Given the description of an element on the screen output the (x, y) to click on. 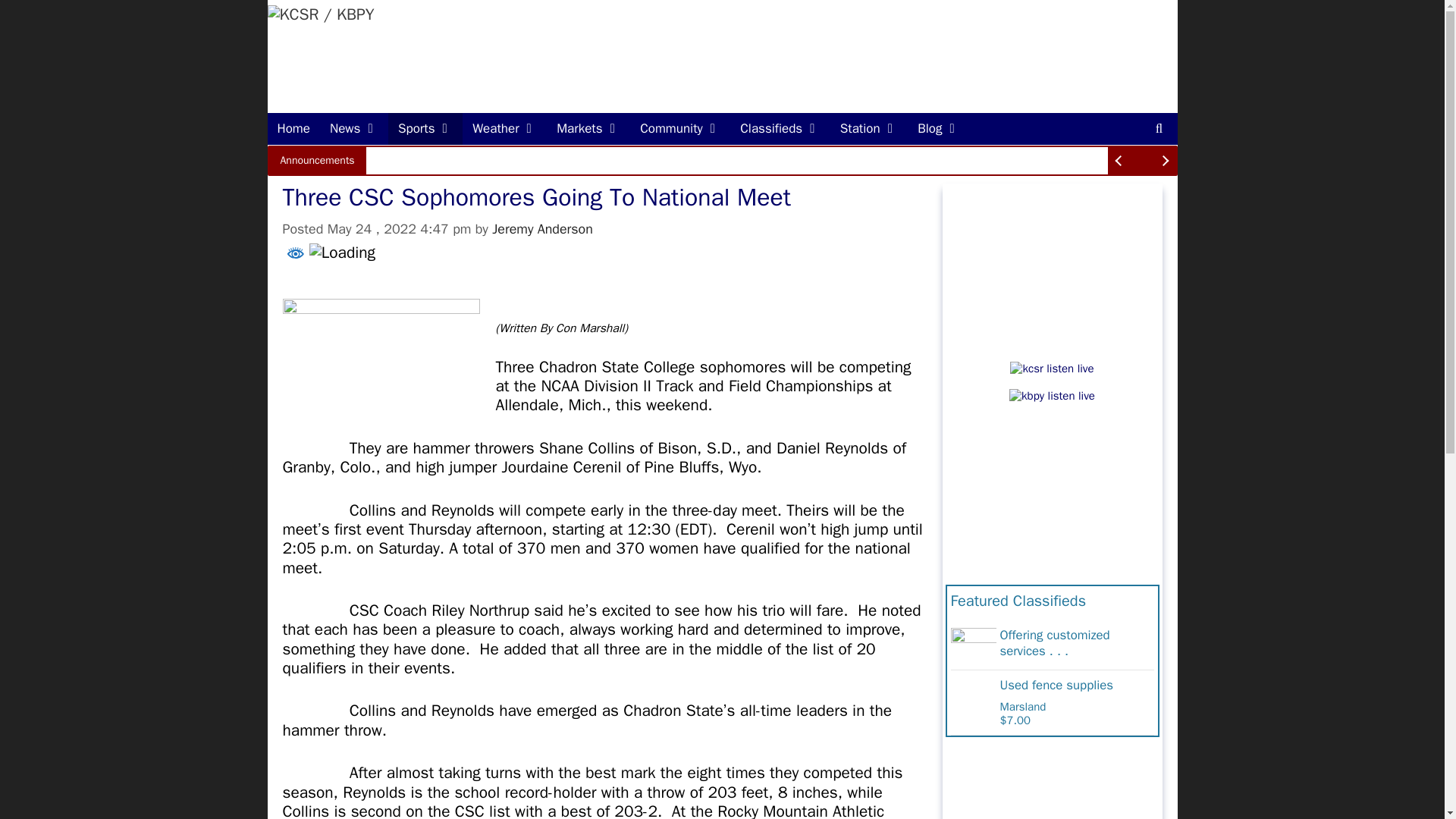
Home (292, 128)
Weather (505, 128)
Community (680, 128)
Markets (588, 128)
Sports (425, 128)
Classifieds (779, 128)
News (354, 128)
View all posts by Jeremy Anderson (542, 228)
